Given the description of an element on the screen output the (x, y) to click on. 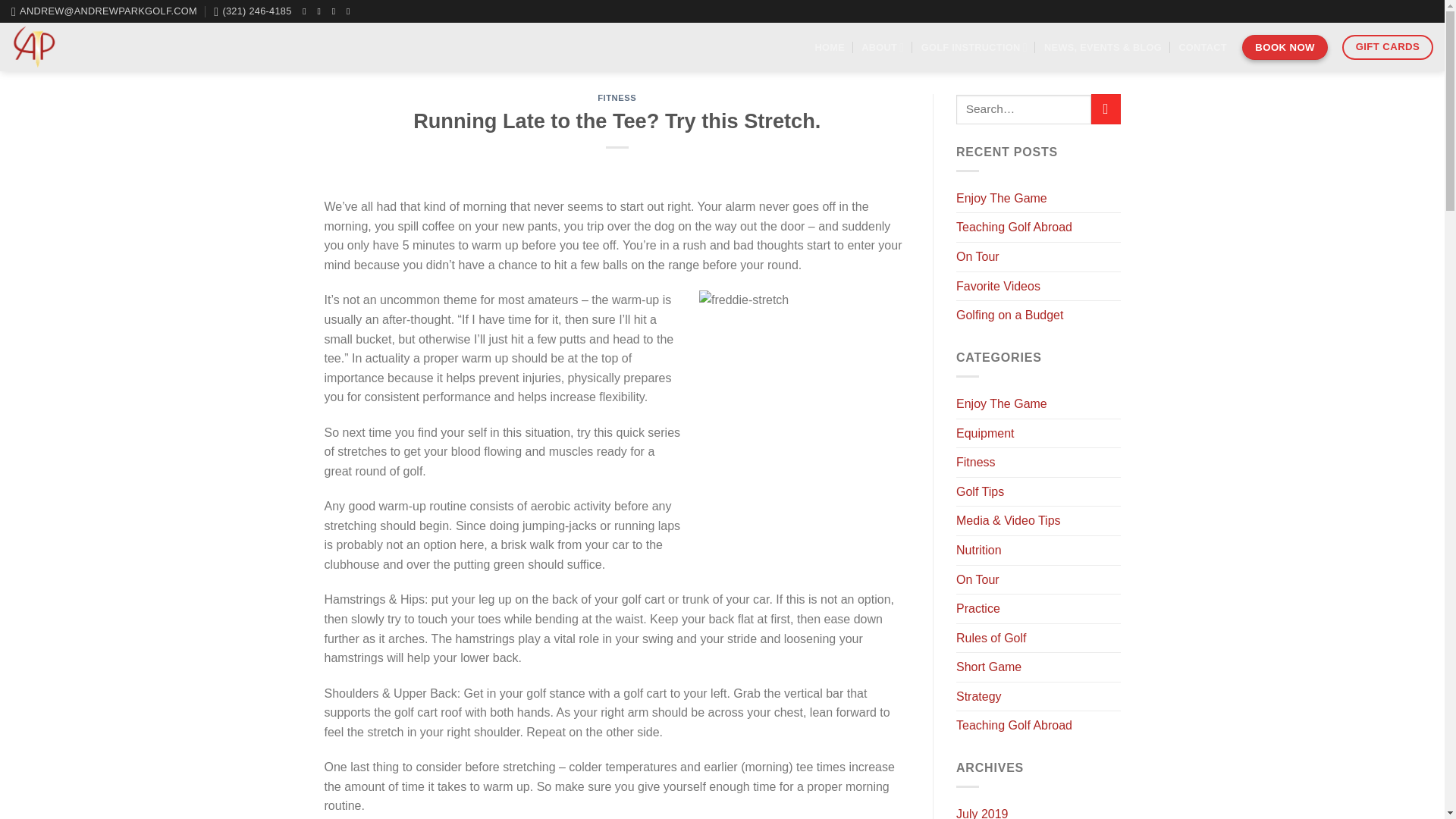
FITNESS (616, 97)
GIFT CARDS (1387, 47)
BOOK NOW (1283, 47)
ABOUT (882, 46)
CONTACT (1201, 46)
Enjoy The Game (1001, 198)
GOLF INSTRUCTION (974, 46)
